Given the description of an element on the screen output the (x, y) to click on. 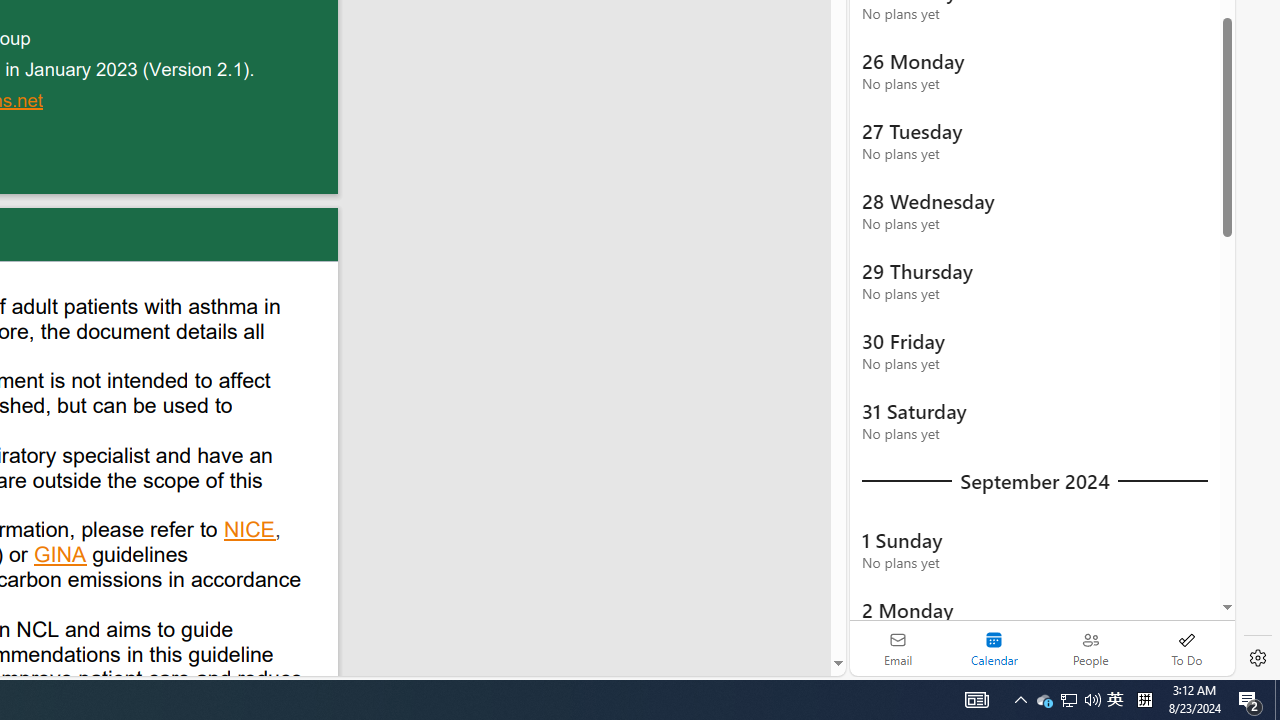
Selected calendar module. Date today is 22 (994, 648)
Email (898, 648)
GINA  (61, 557)
People (1090, 648)
NICE (250, 532)
To Do (1186, 648)
